Given the description of an element on the screen output the (x, y) to click on. 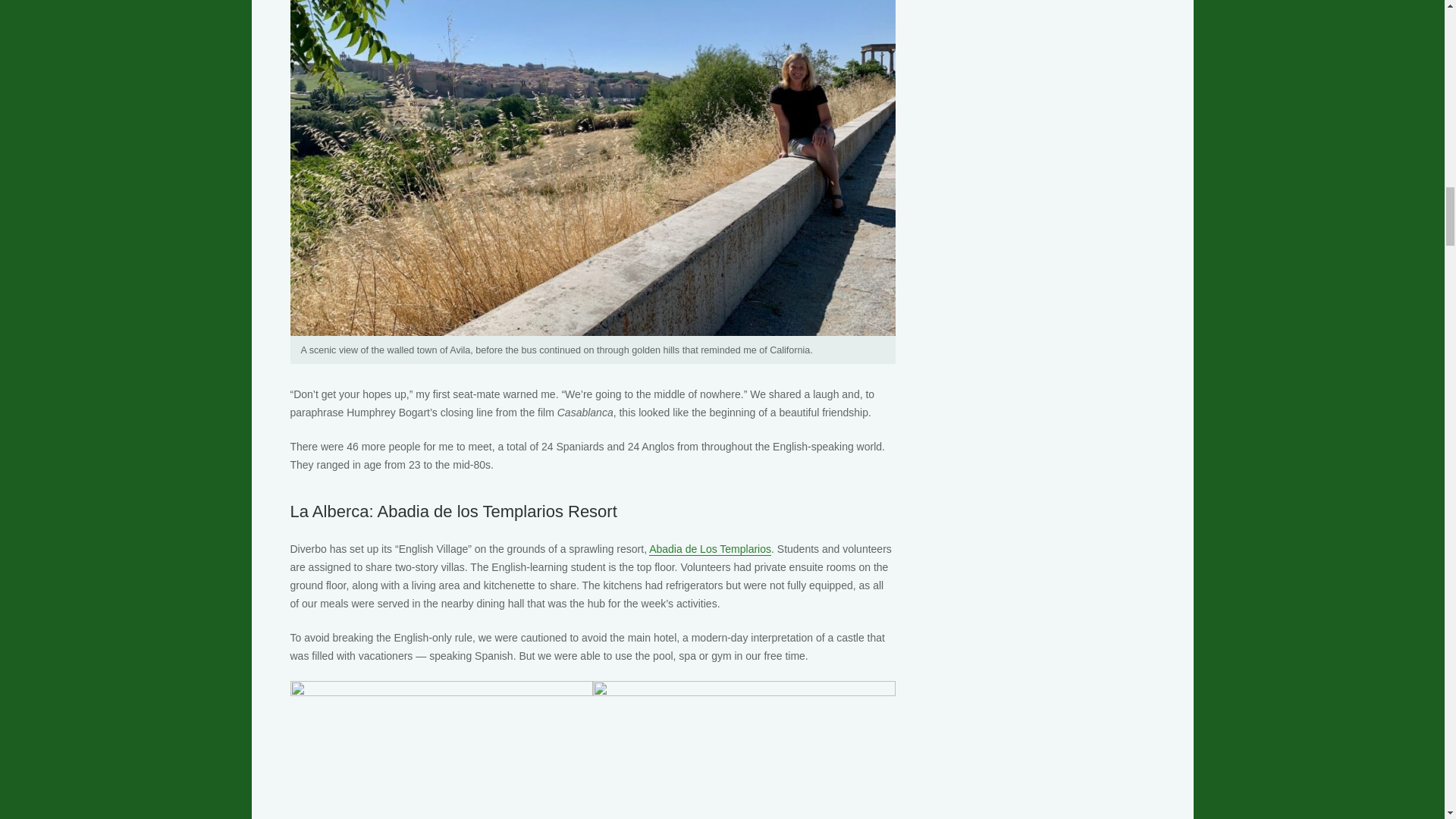
Abadia de Los Templarios (710, 549)
